Given the description of an element on the screen output the (x, y) to click on. 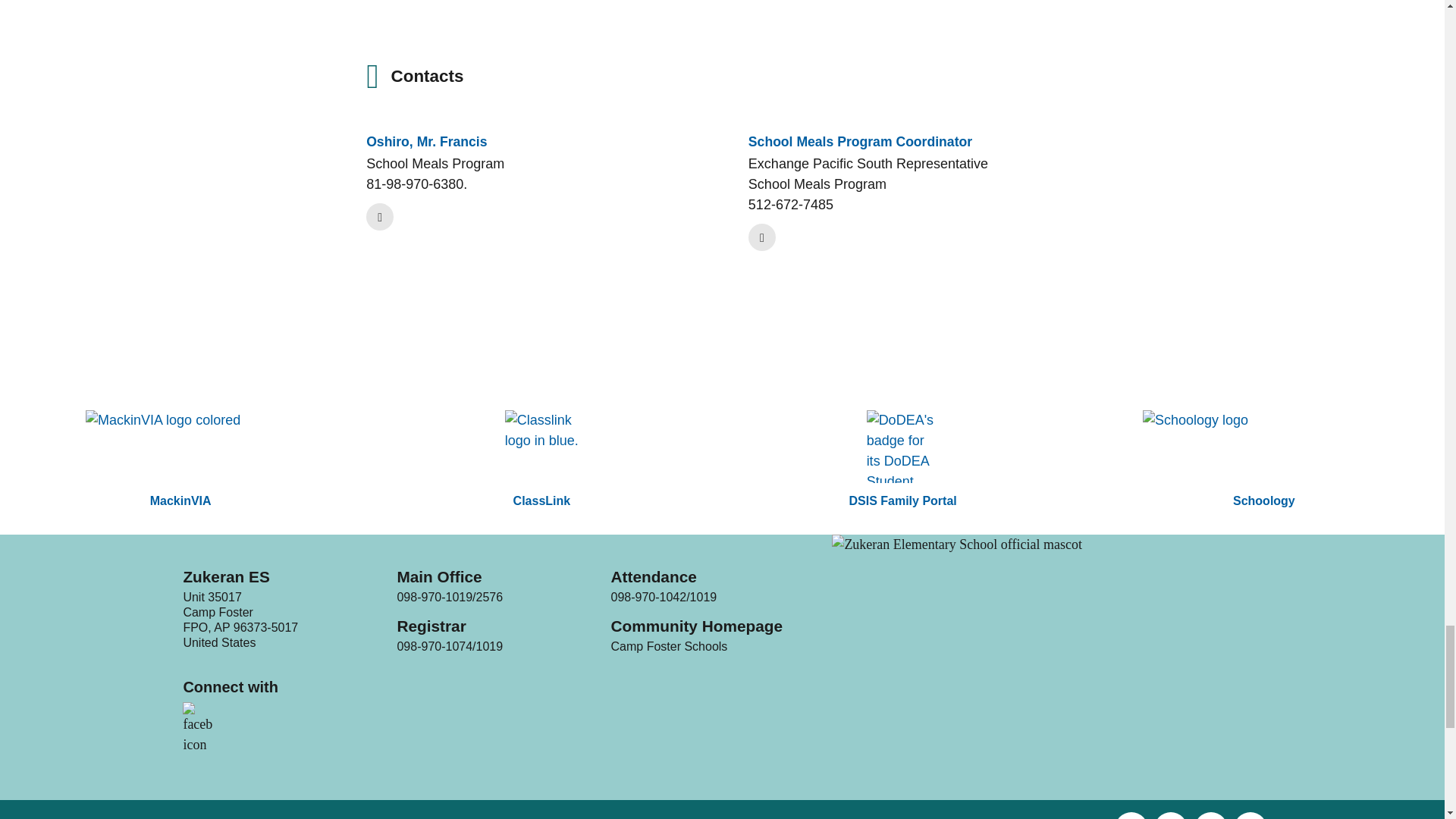
View our profile on Twitter (1207, 815)
View our profile on YouTube (1246, 815)
View our profile on Facebook (1128, 815)
View our profile on Flickr (1167, 815)
